Given the description of an element on the screen output the (x, y) to click on. 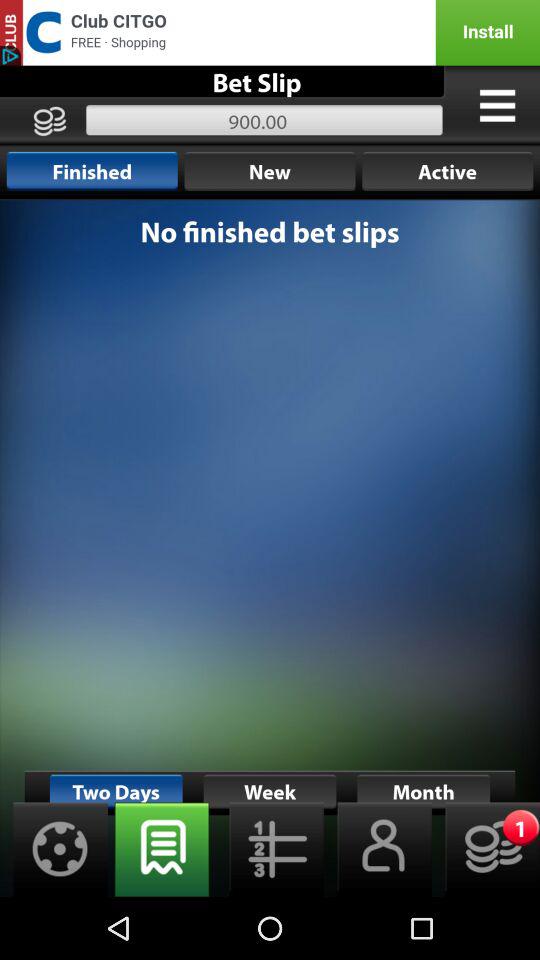
select amount (486, 849)
